Given the description of an element on the screen output the (x, y) to click on. 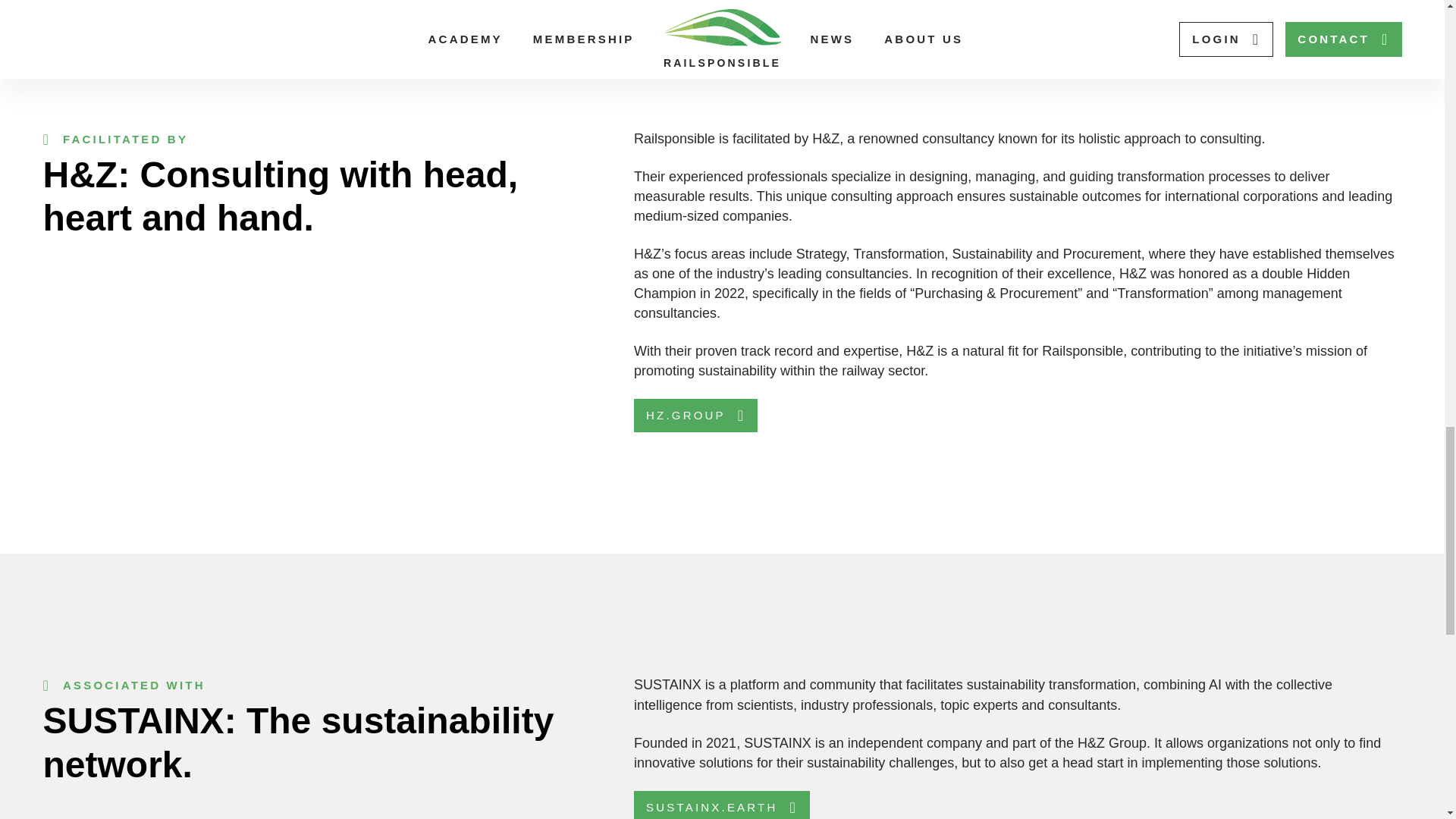
HZ.GROUP (695, 415)
Supply Chain Due Diligence (211, 3)
SUSTAINX.EARTH (721, 805)
Communication Material (551, 3)
